Given the description of an element on the screen output the (x, y) to click on. 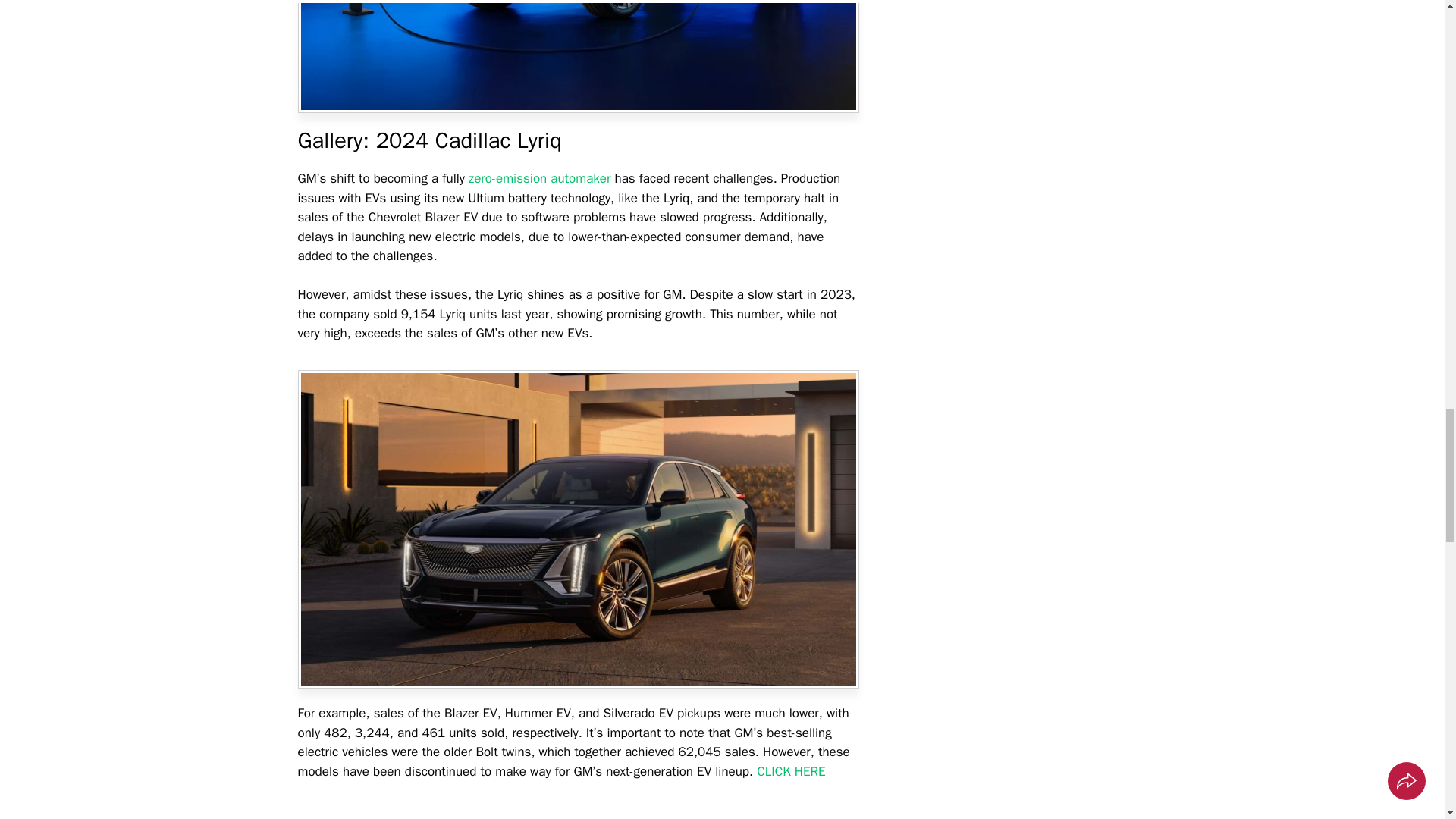
CLICK HERE (791, 771)
The Cadillac Lyriq Gets Some Nice Upgrades In March (578, 809)
zero-emission automaker (541, 178)
